Given the description of an element on the screen output the (x, y) to click on. 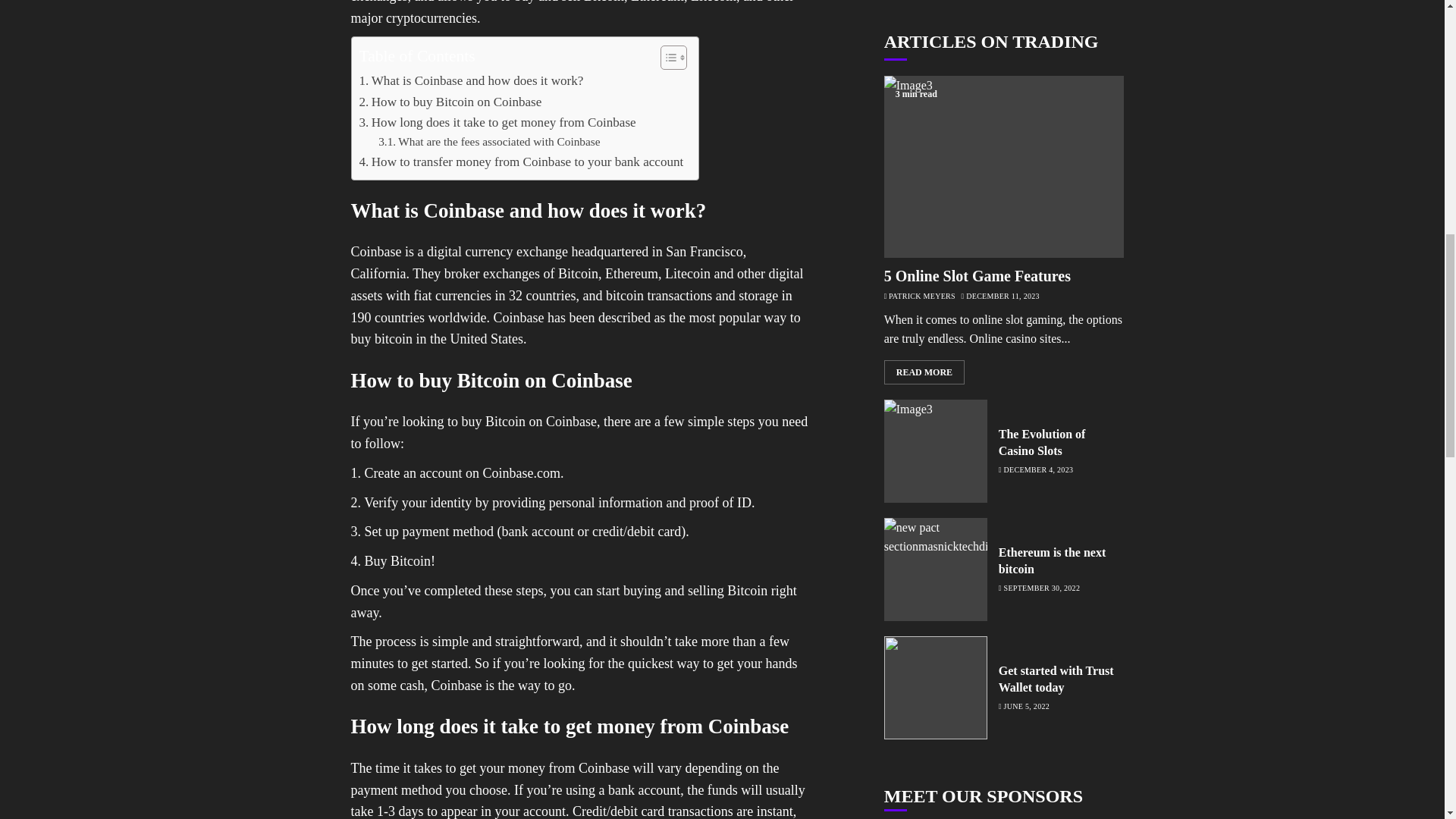
How long does it take to get money from Coinbase (497, 122)
How to transfer money from Coinbase to your bank account (521, 161)
How to buy Bitcoin on Coinbase (450, 101)
How to transfer money from Coinbase to your bank account (521, 161)
What are the fees associated with Coinbase (488, 141)
What is Coinbase and how does it work? (471, 80)
What is Coinbase and how does it work? (471, 80)
How to buy Bitcoin on Coinbase (450, 101)
What are the fees associated with Coinbase (488, 141)
How long does it take to get money from Coinbase (497, 122)
